Given the description of an element on the screen output the (x, y) to click on. 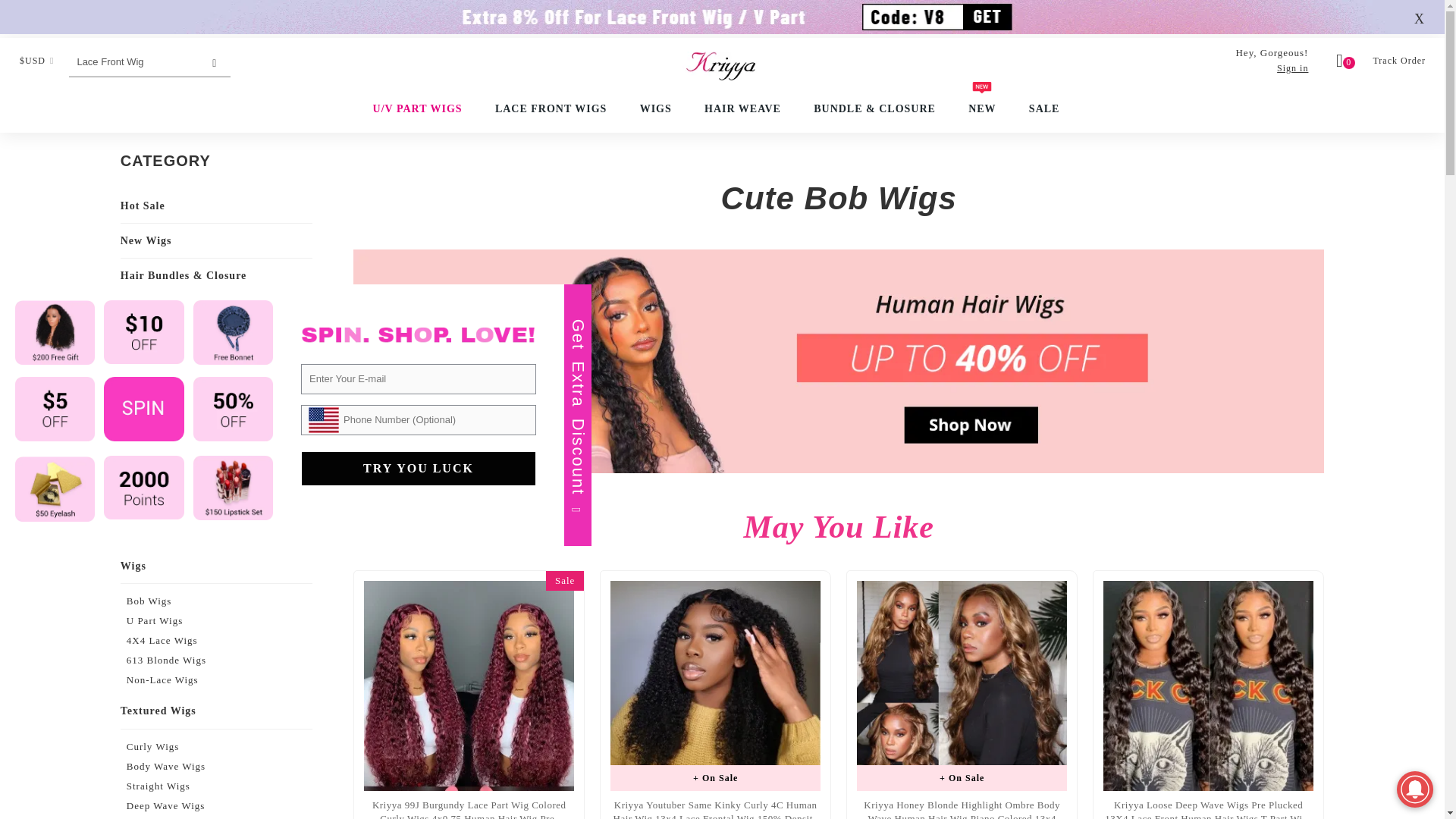
0 (1345, 61)
track order (1400, 60)
Sign in (1291, 68)
kriyya Human Hair-A Natural Extension of U (721, 69)
LACE FRONT WIGS (551, 108)
Lace Front Wig (133, 60)
WIGS (655, 108)
Sign in (1291, 68)
Lace Front Wig (133, 60)
Track Order (1400, 60)
